Given the description of an element on the screen output the (x, y) to click on. 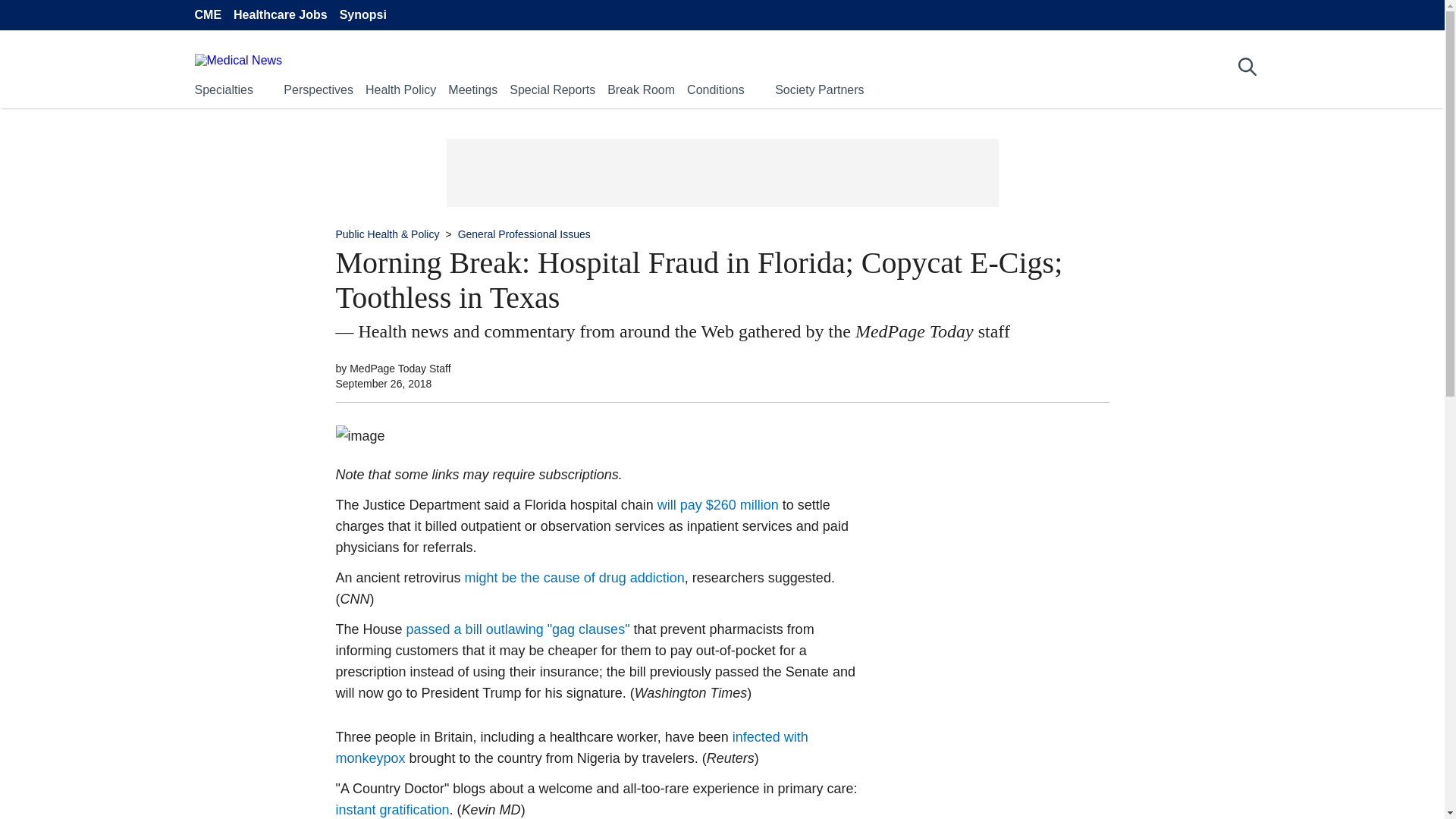
Healthcare Jobs (279, 15)
Specialties (222, 89)
Synopsi (363, 15)
CME (207, 15)
